Given the description of an element on the screen output the (x, y) to click on. 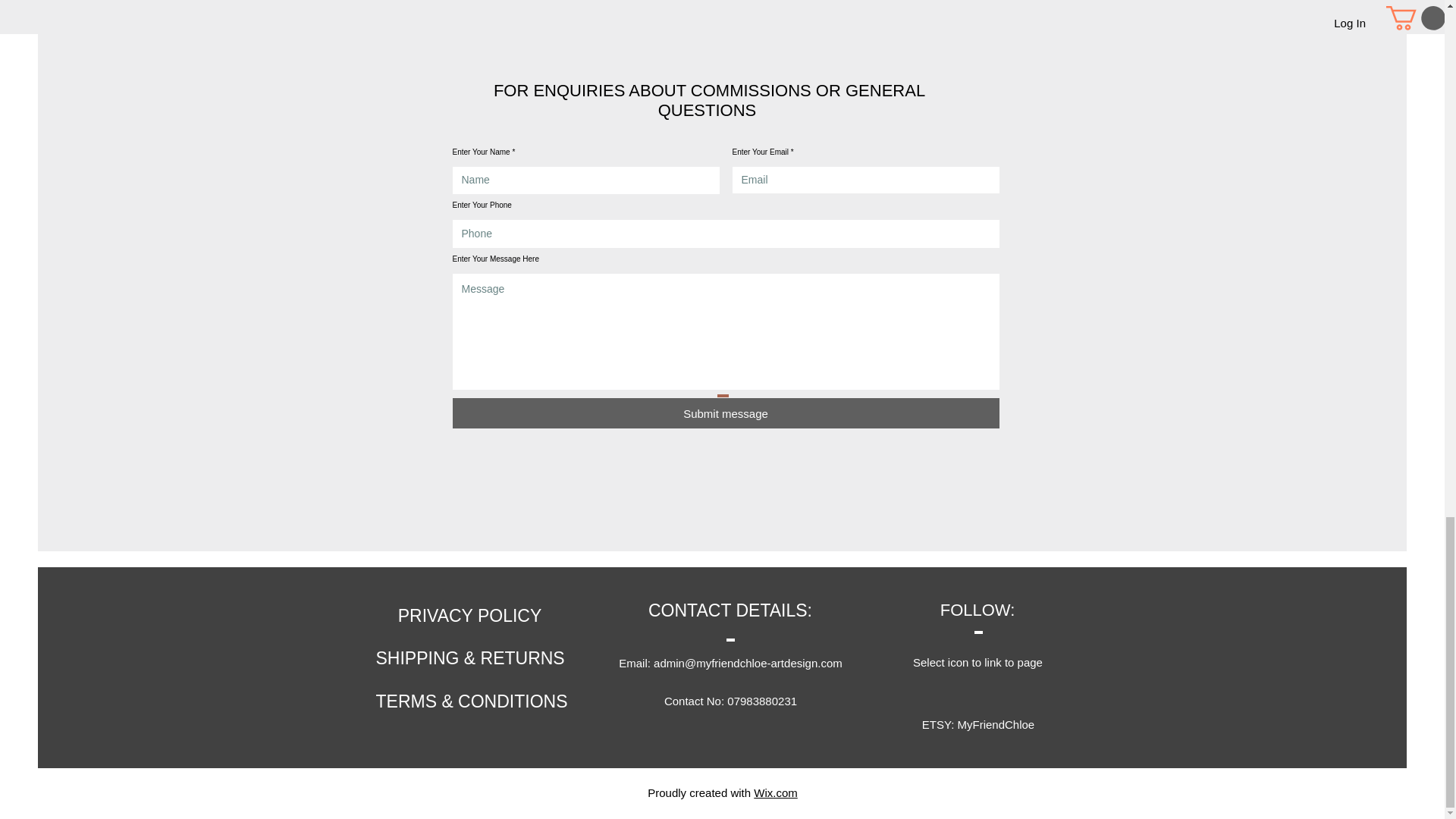
Wix.com (775, 792)
PRIVACY POLICY (469, 615)
ETSY: MyFriendChloe (978, 724)
Submit message (724, 413)
